Given the description of an element on the screen output the (x, y) to click on. 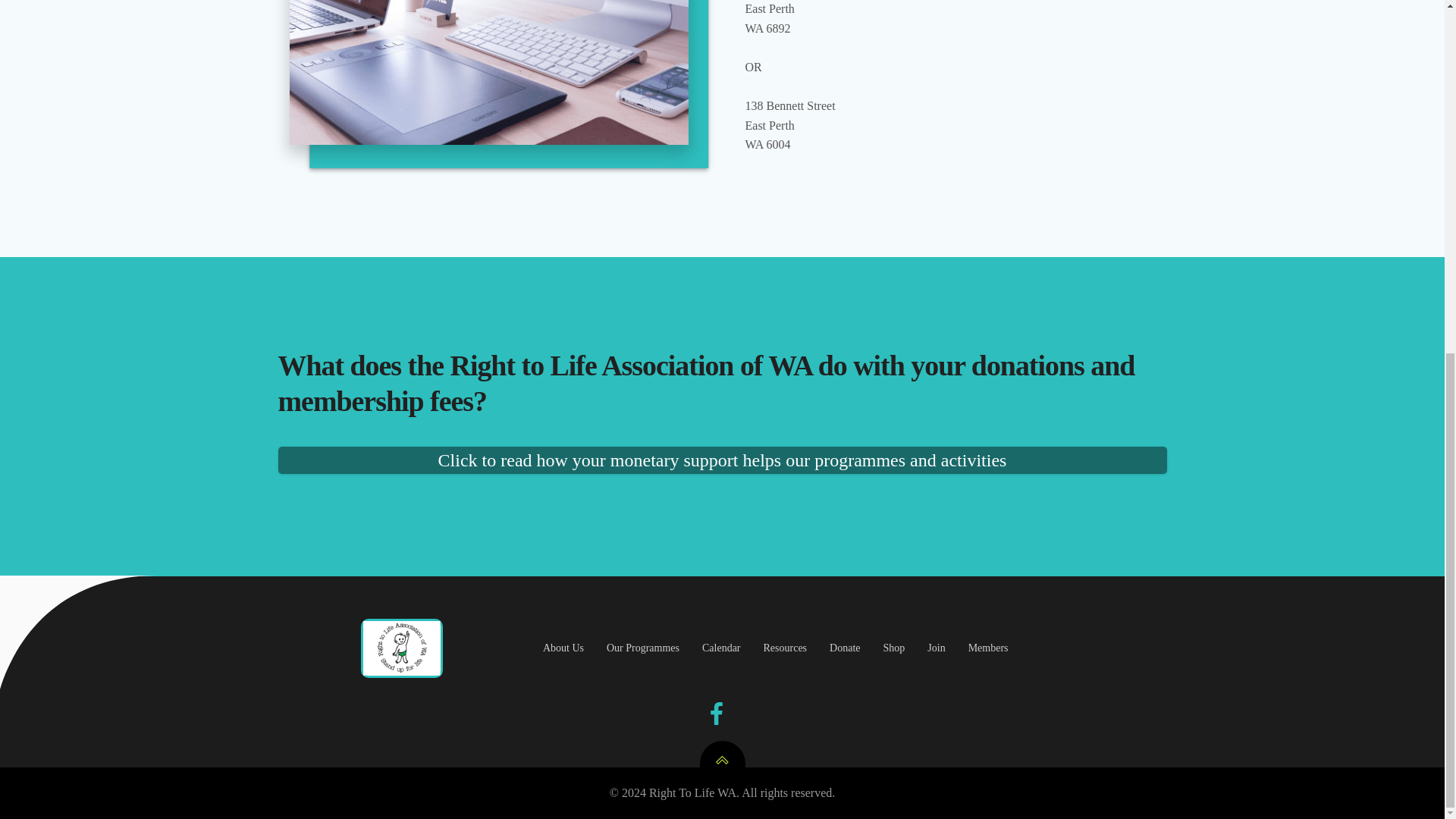
Resources (785, 647)
Calendar (721, 647)
About Us (563, 647)
Our Programmes (643, 647)
